Given the description of an element on the screen output the (x, y) to click on. 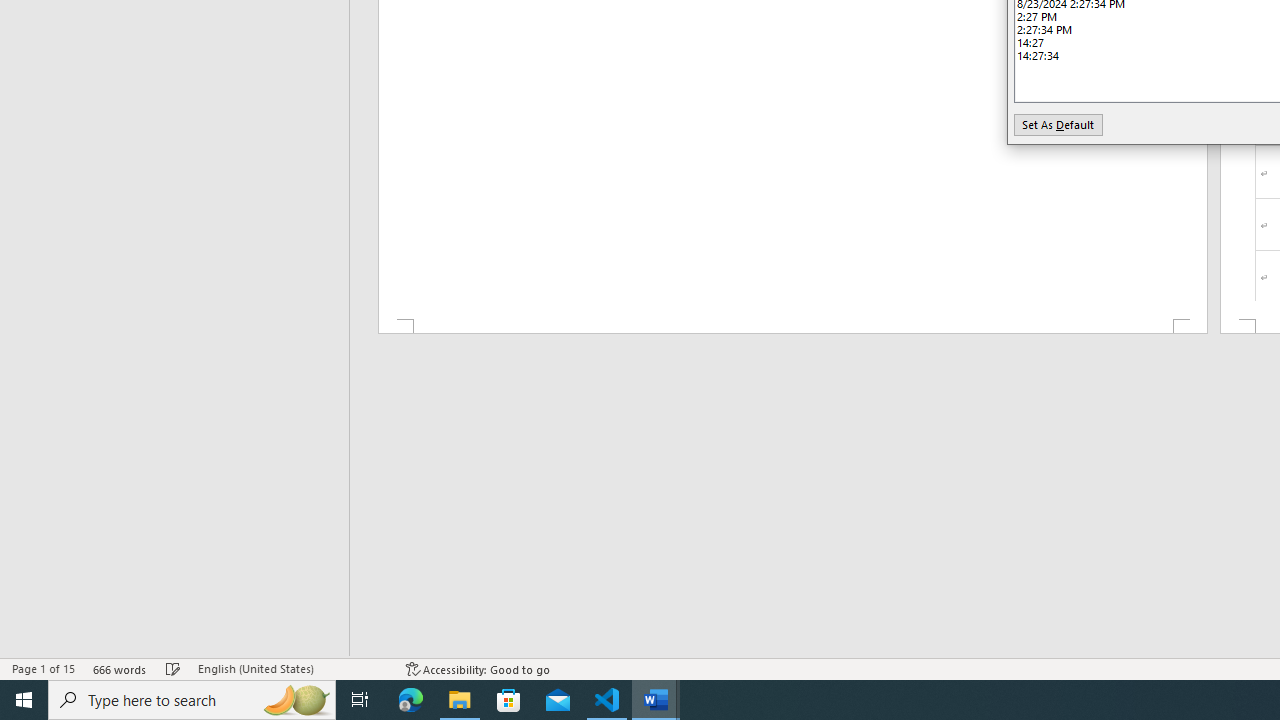
File Explorer - 1 running window (460, 699)
Set As Default (1057, 124)
